Given the description of an element on the screen output the (x, y) to click on. 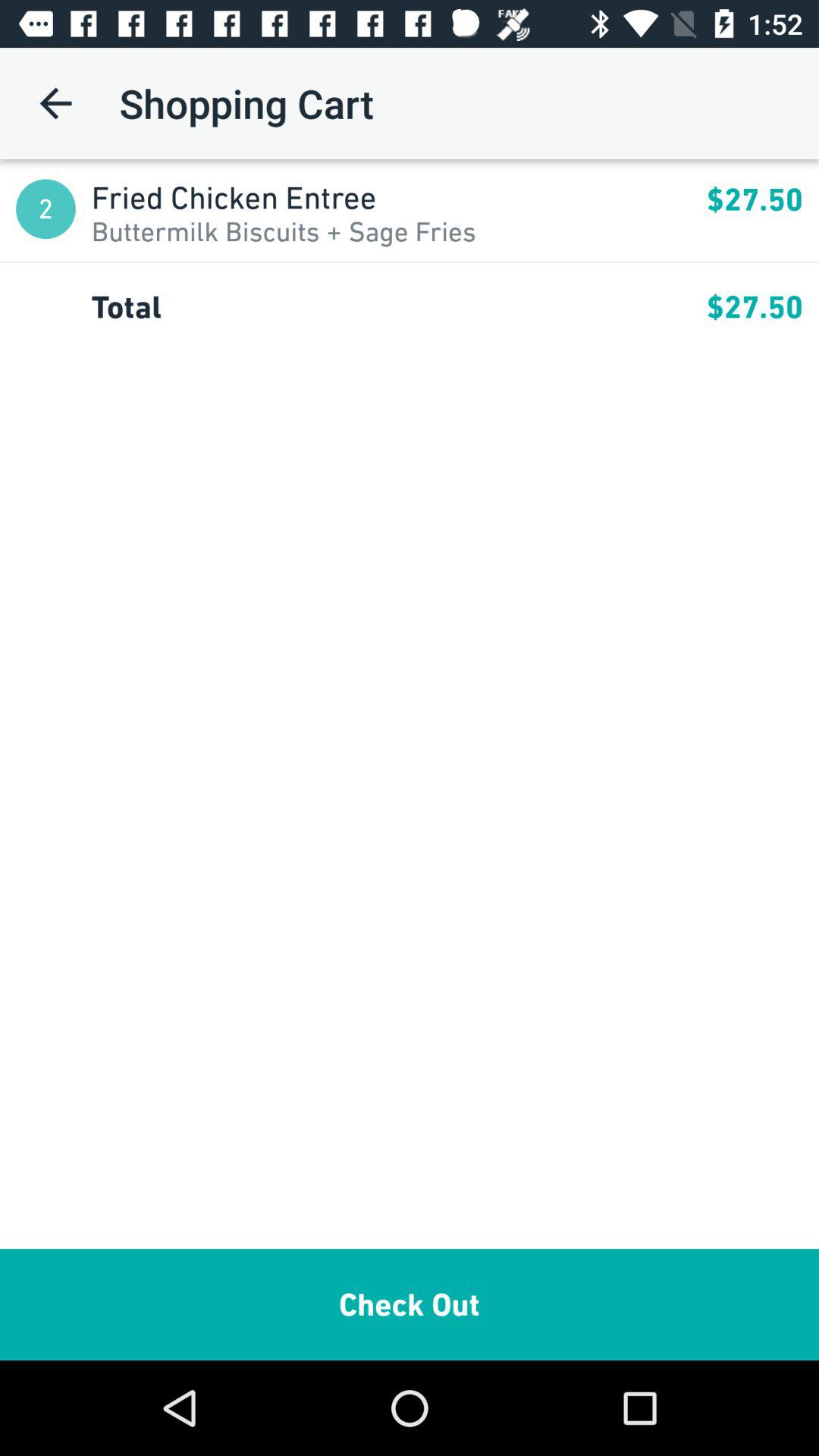
open item to the left of fried chicken entree item (45, 208)
